Given the description of an element on the screen output the (x, y) to click on. 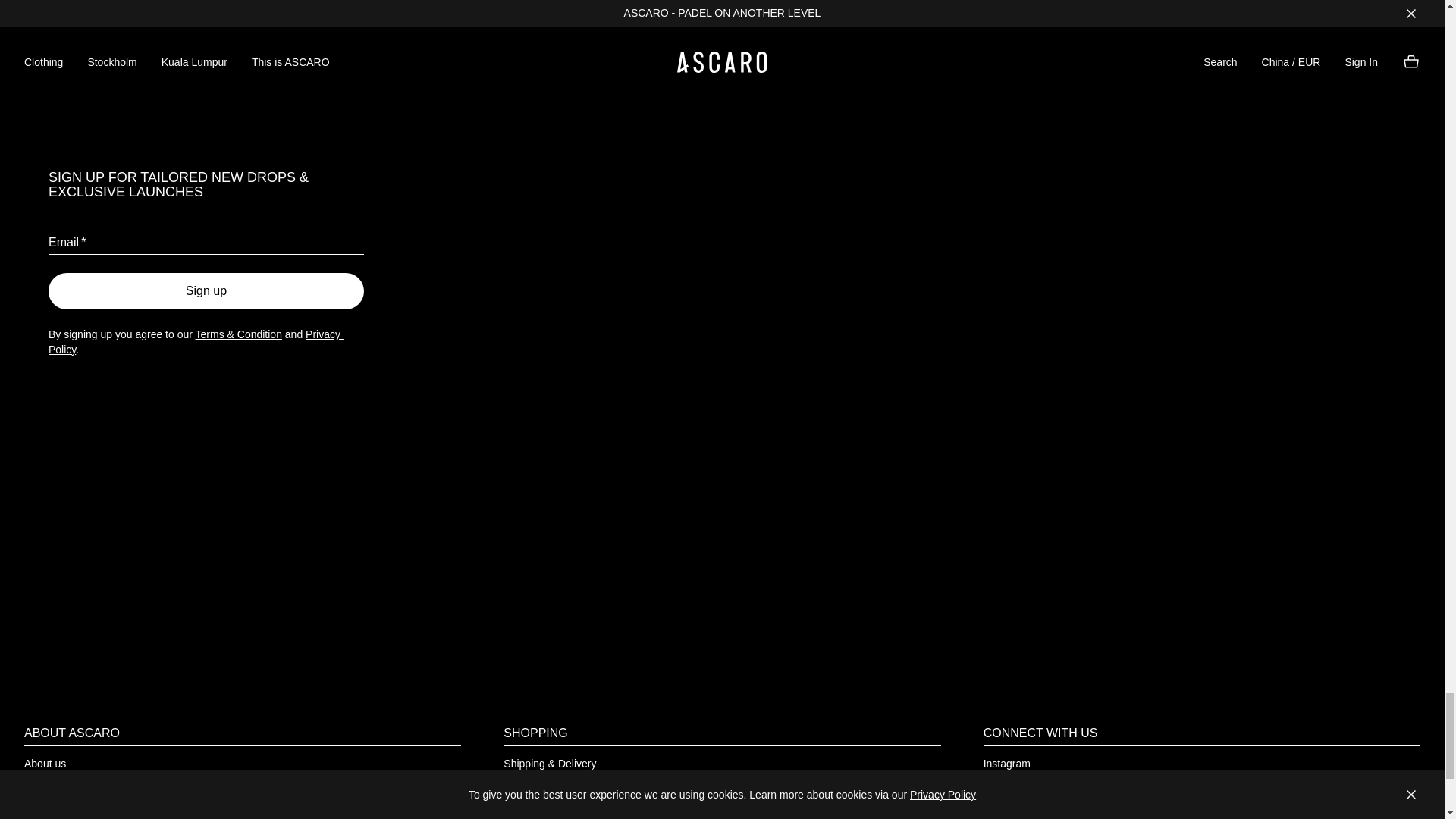
Returns (521, 785)
Sign up (206, 290)
Privacy Policy (195, 341)
Contact us (528, 806)
LinkedIn (1003, 806)
Instagram (1007, 765)
About us (44, 765)
Sustainability (55, 785)
Facebook (1006, 785)
Stories (41, 806)
